Given the description of an element on the screen output the (x, y) to click on. 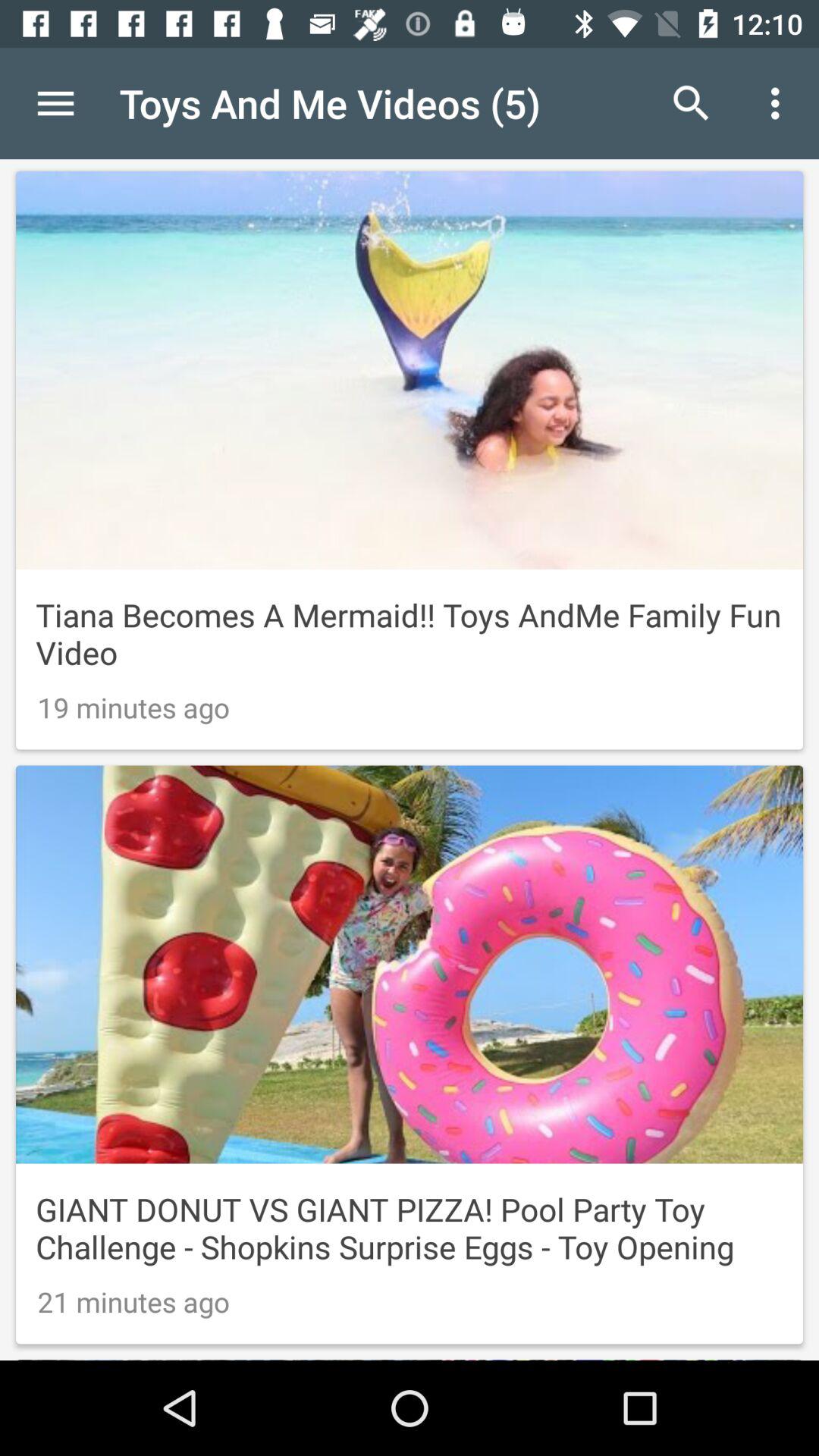
choose item next to the toys and me item (691, 103)
